Given the description of an element on the screen output the (x, y) to click on. 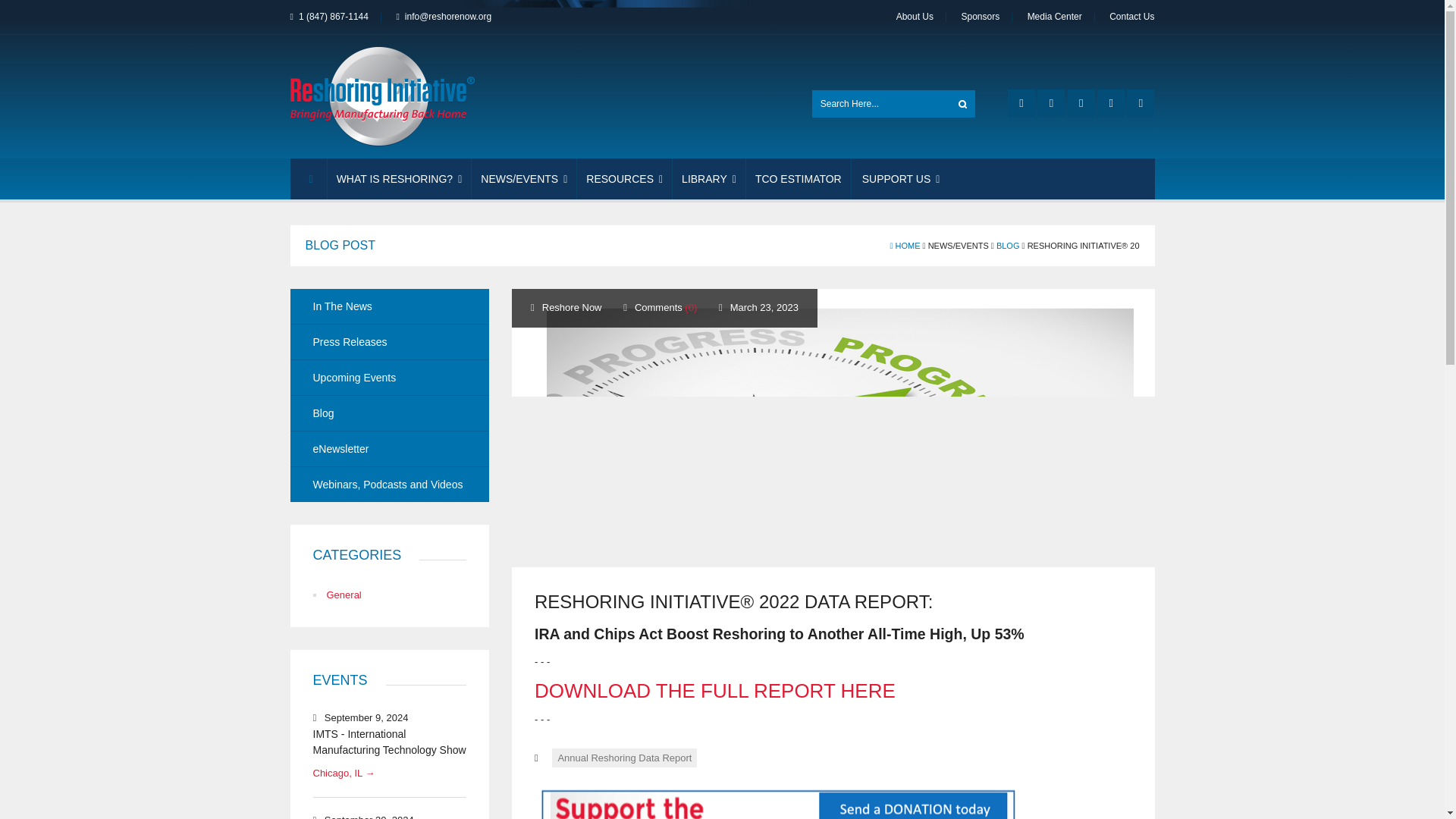
Media Center (1054, 16)
About Us (914, 16)
Sponsors (979, 16)
